Given the description of an element on the screen output the (x, y) to click on. 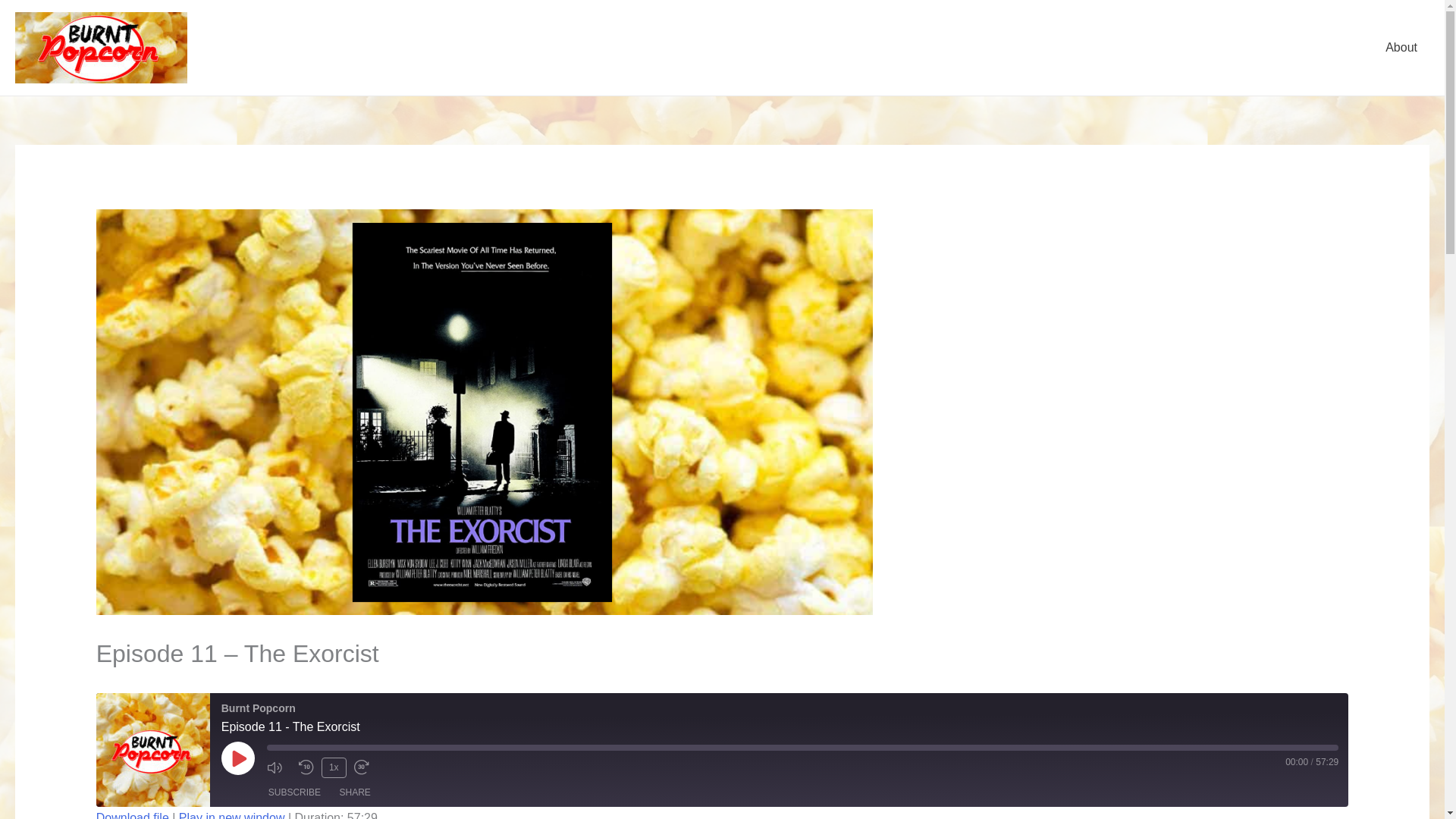
Burnt Popcorn (152, 749)
1x (333, 767)
SHARE (354, 791)
Play Episode (237, 758)
Fast Forward 30 seconds (365, 767)
Play in new window (232, 815)
Playback Speed (333, 767)
Rewind 10 Seconds (306, 767)
Fast Forward 30 seconds (365, 767)
Download file (132, 815)
Share (354, 791)
Subscribe (294, 791)
SUBSCRIBE (294, 791)
Rewind 10 seconds (306, 767)
